Given the description of an element on the screen output the (x, y) to click on. 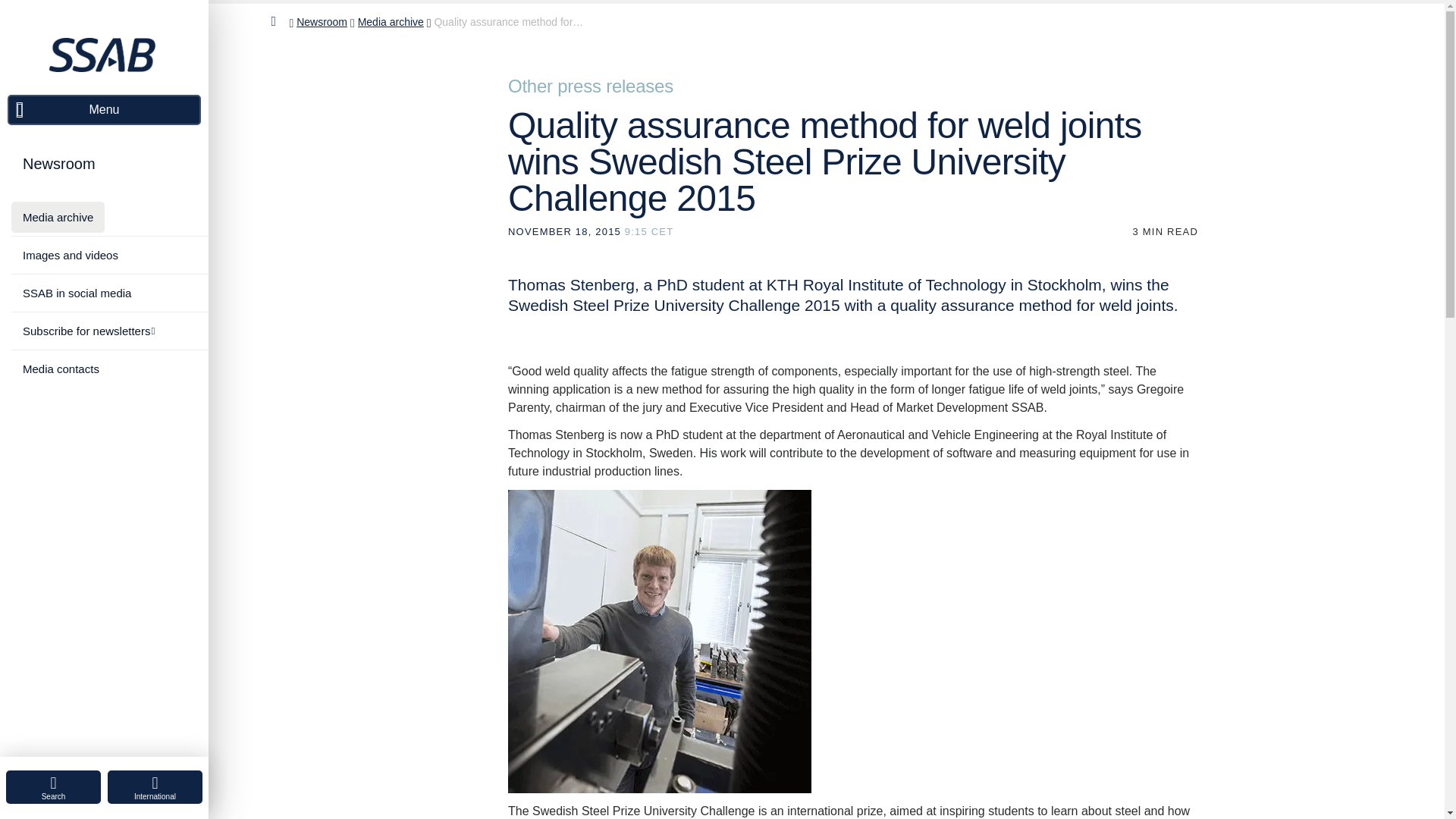
Media archive (57, 216)
Subscribe for newsletters (88, 330)
Media contacts (60, 368)
Search (52, 786)
Images and videos (70, 255)
International (154, 786)
SSAB in social media (76, 292)
Newsroom (58, 163)
Menu (103, 110)
